Given the description of an element on the screen output the (x, y) to click on. 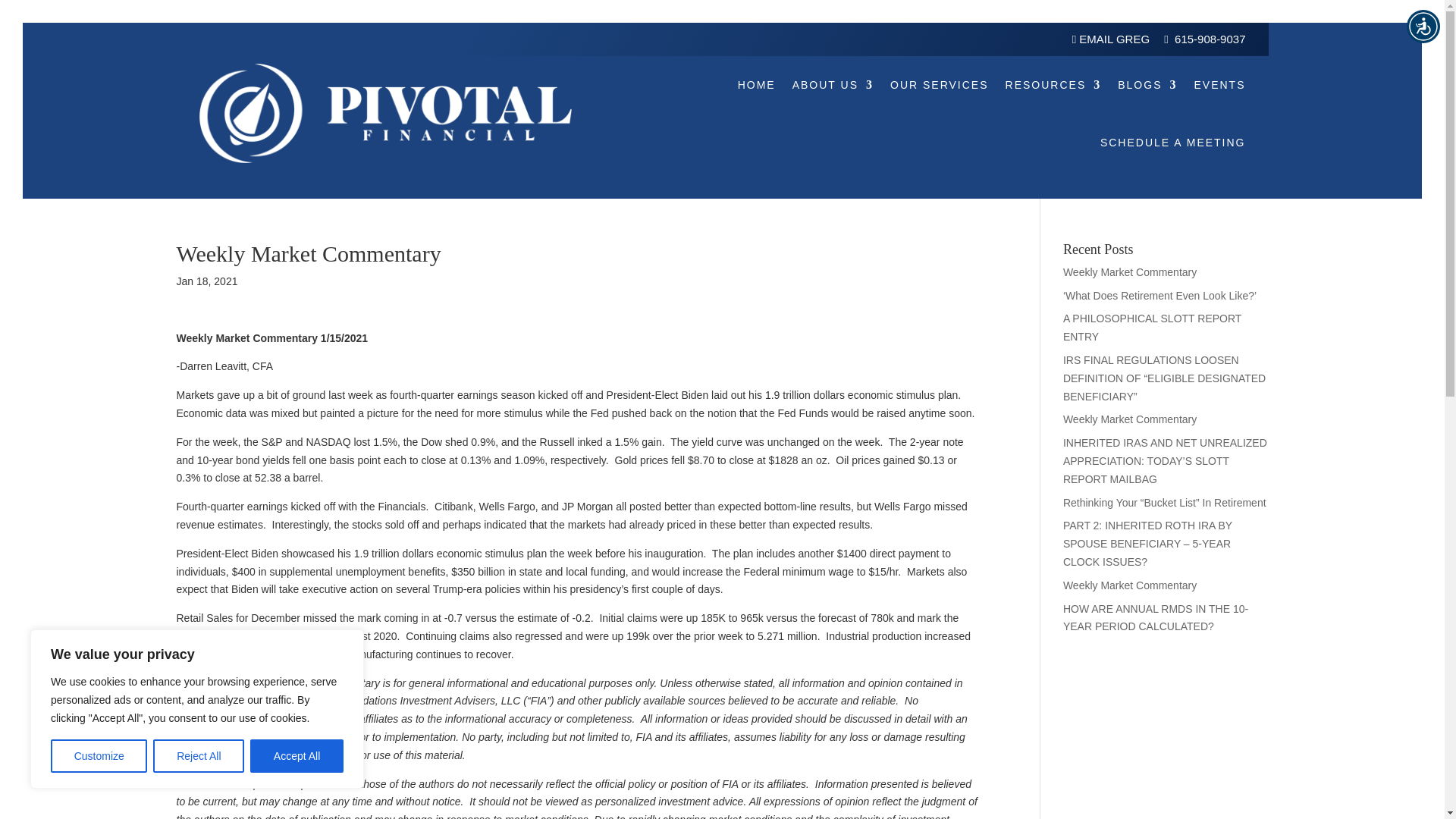
Customize (98, 756)
EVENTS (1218, 84)
BLOGS (1147, 84)
615-908-9037 (1209, 38)
Accept All (296, 756)
Accessibility Menu (1422, 26)
Reject All (198, 756)
SCHEDULE A MEETING (1173, 142)
ABOUT US (832, 84)
RESOURCES (1054, 84)
